Given the description of an element on the screen output the (x, y) to click on. 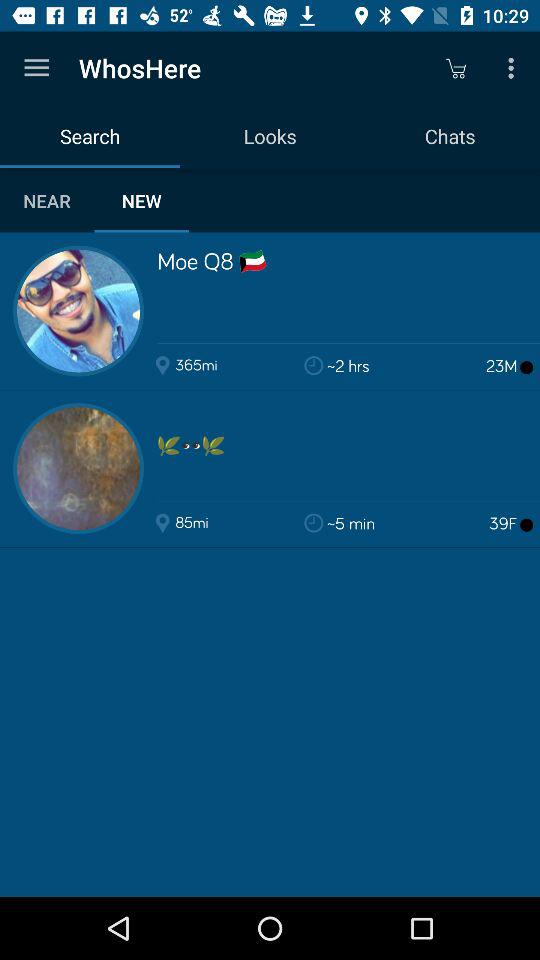
press the app above chats item (455, 67)
